Given the description of an element on the screen output the (x, y) to click on. 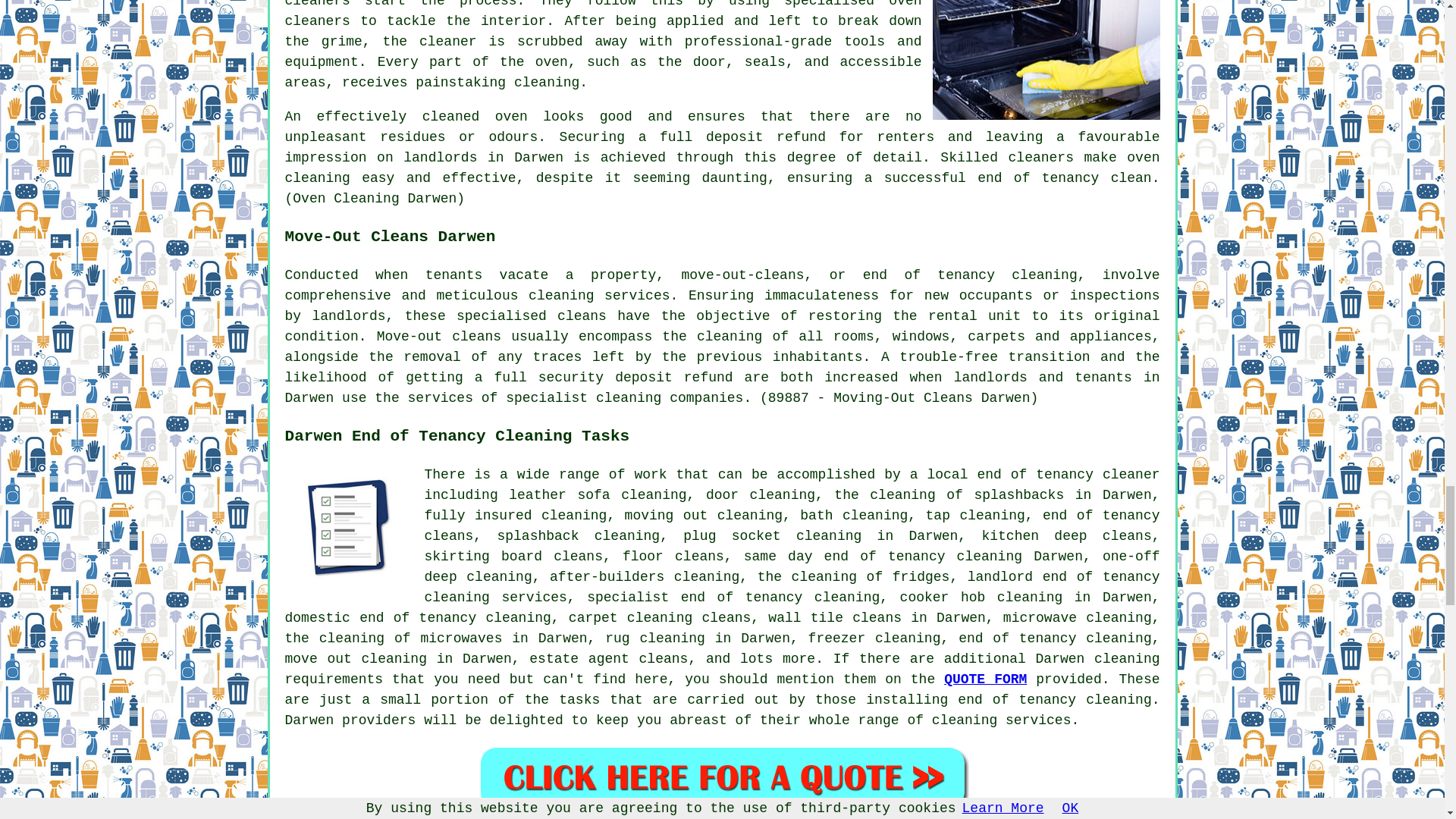
move-out cleans (742, 274)
Oven Cleaning Darwen (1046, 59)
End of Tenancy Cleaning Tasks Darwen (349, 529)
end of tenancy clean (1063, 177)
cleaned oven (474, 116)
